Given the description of an element on the screen output the (x, y) to click on. 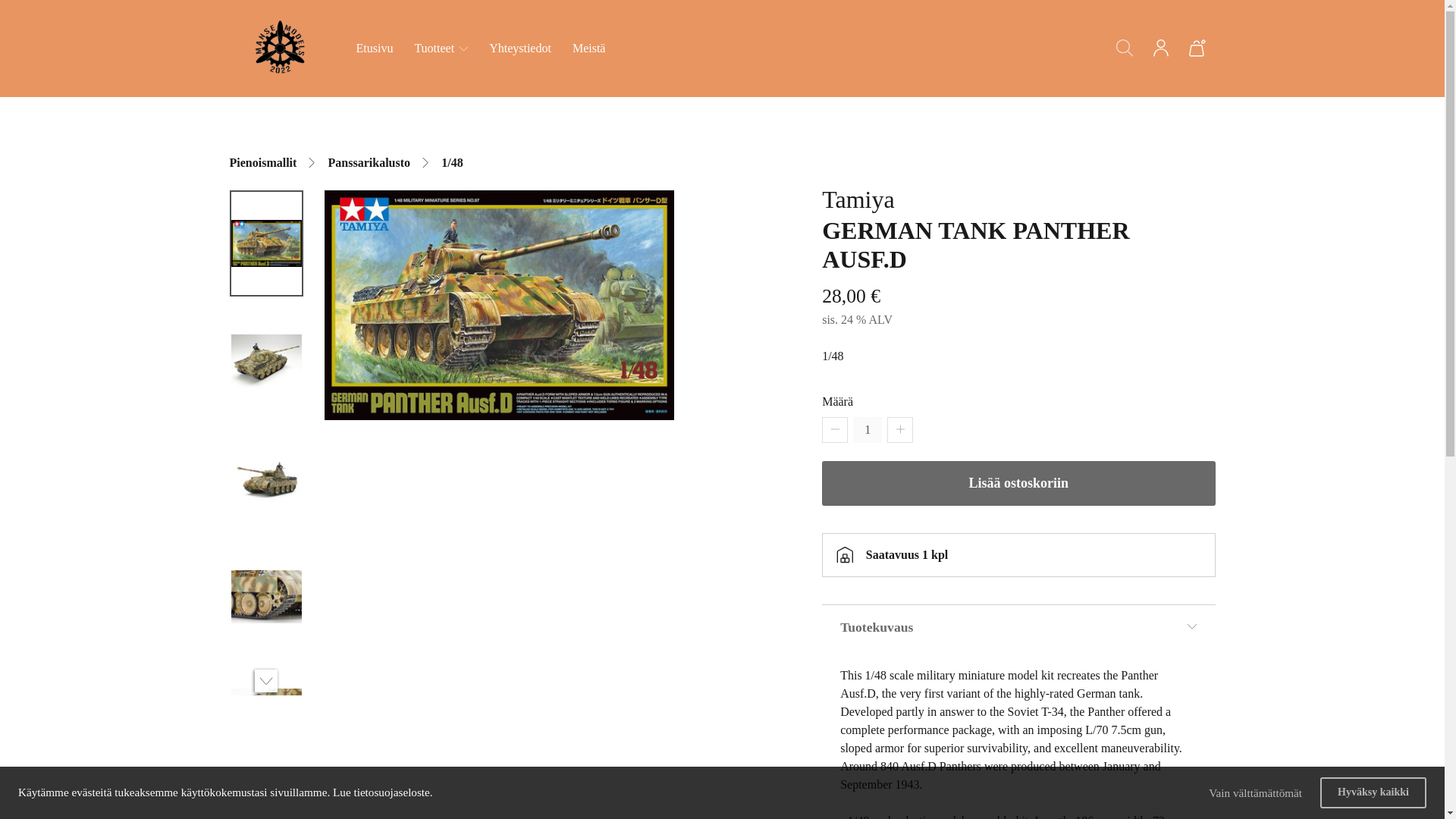
Etusivu (374, 49)
1 (867, 429)
Pienoismallit (262, 162)
Yhteystiedot (520, 49)
